Given the description of an element on the screen output the (x, y) to click on. 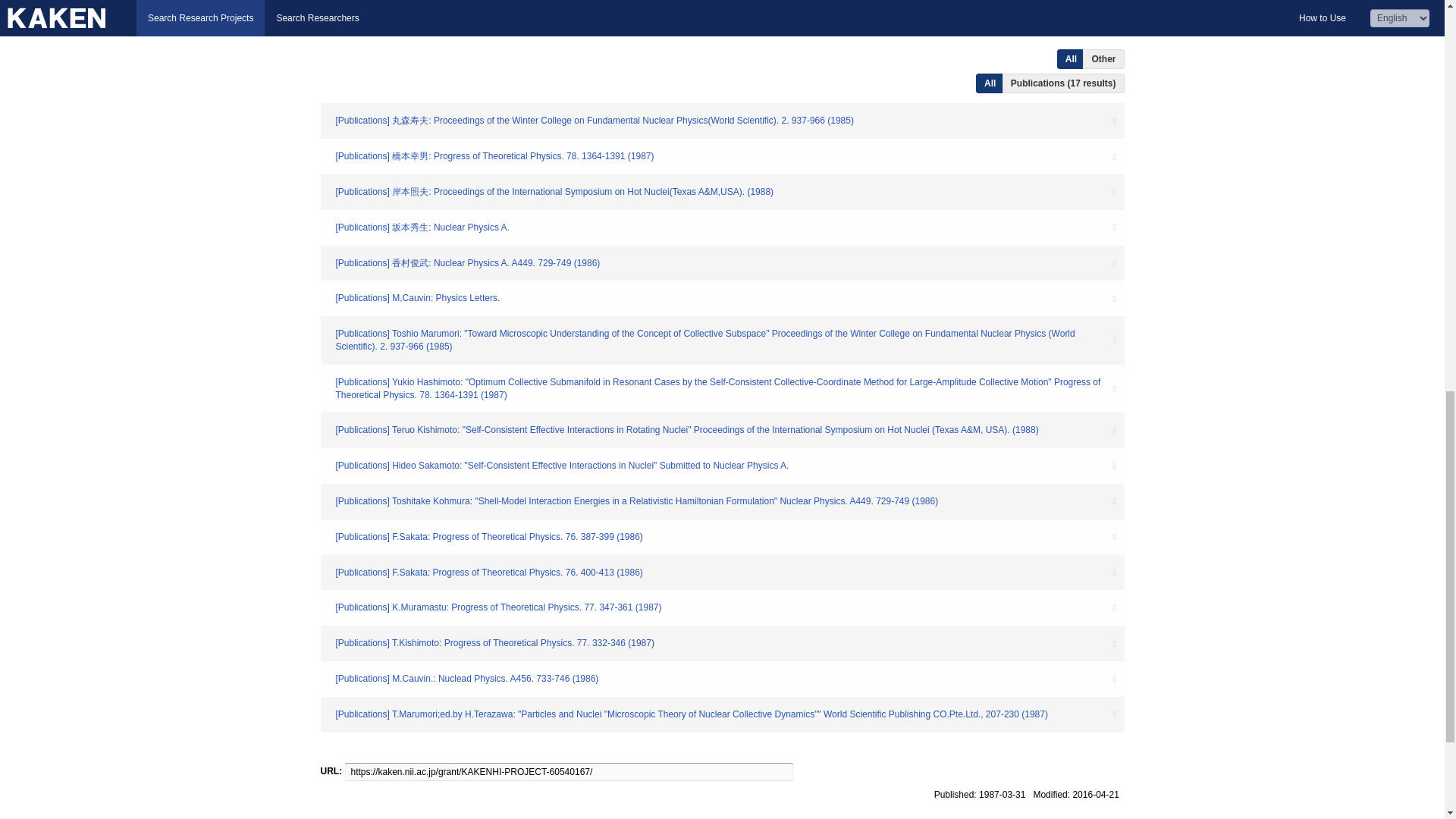
Other (1103, 58)
All (1070, 58)
All (989, 83)
